Given the description of an element on the screen output the (x, y) to click on. 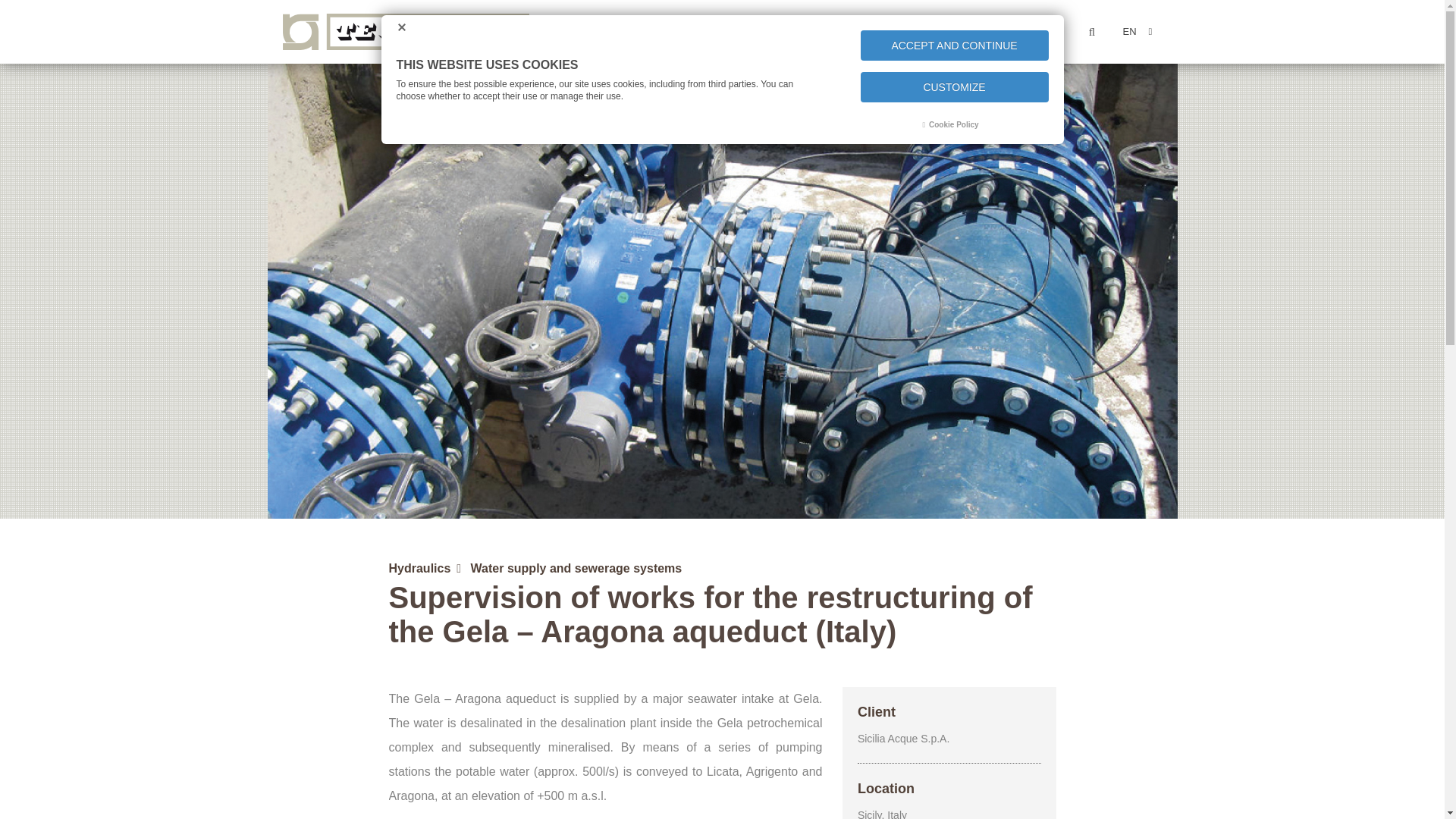
Technital Spa (405, 31)
